Given the description of an element on the screen output the (x, y) to click on. 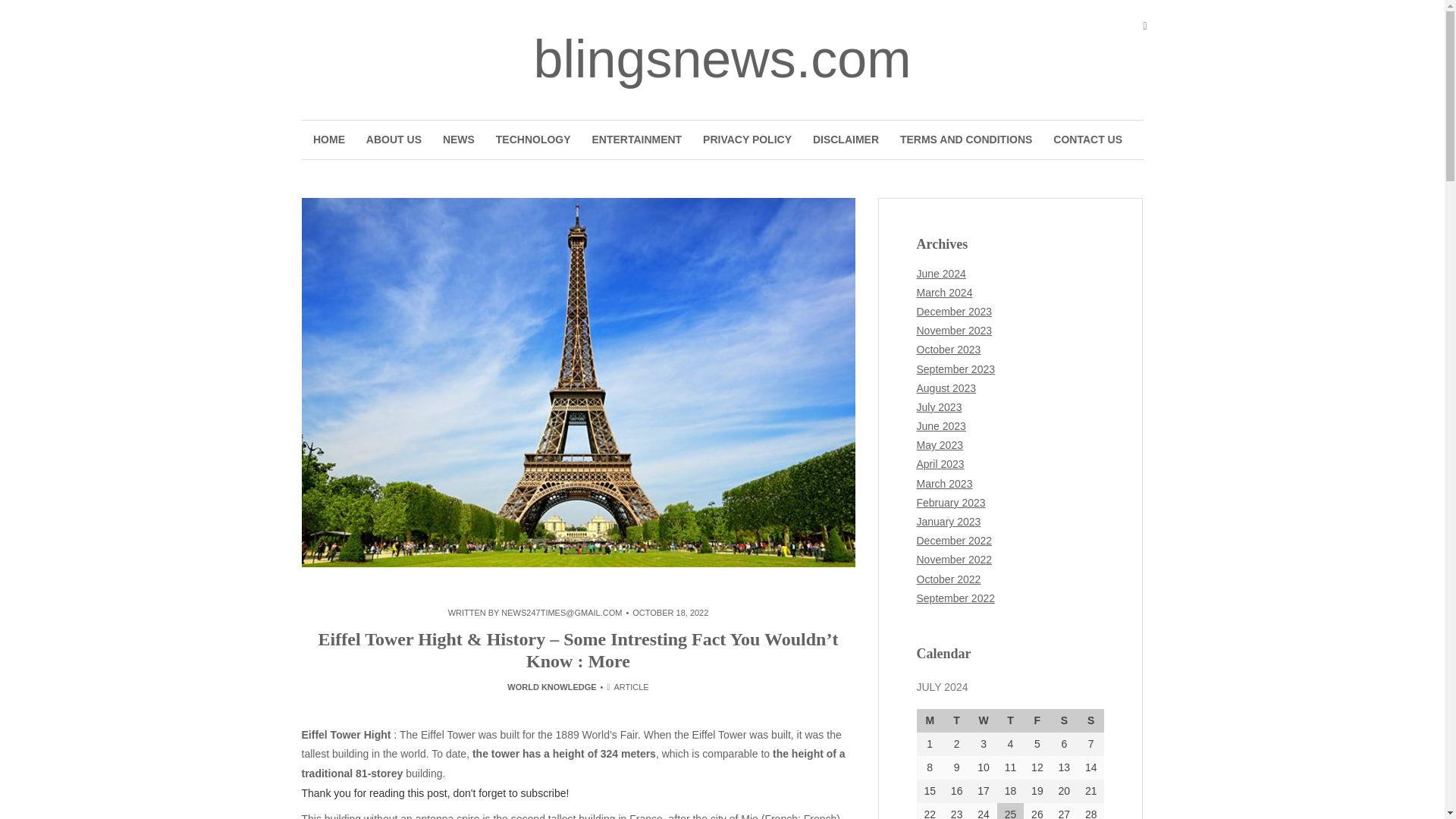
Tuesday (956, 720)
blingsnews.com (722, 58)
Wednesday (982, 720)
Thursday (1010, 720)
Monday (928, 720)
Saturday (1064, 720)
Friday (1036, 720)
